Given the description of an element on the screen output the (x, y) to click on. 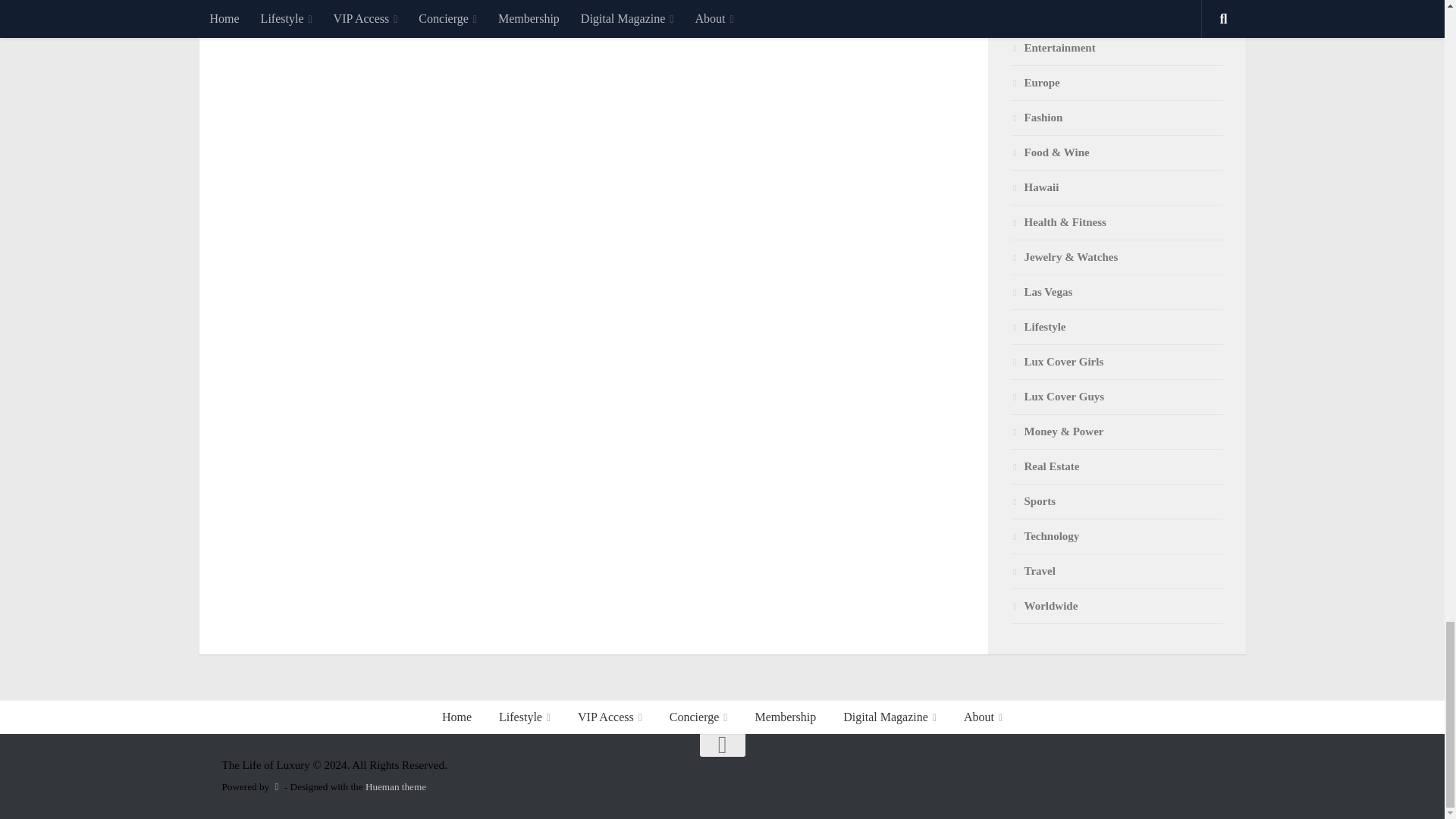
Powered by WordPress (275, 786)
Hueman theme (395, 786)
